Given the description of an element on the screen output the (x, y) to click on. 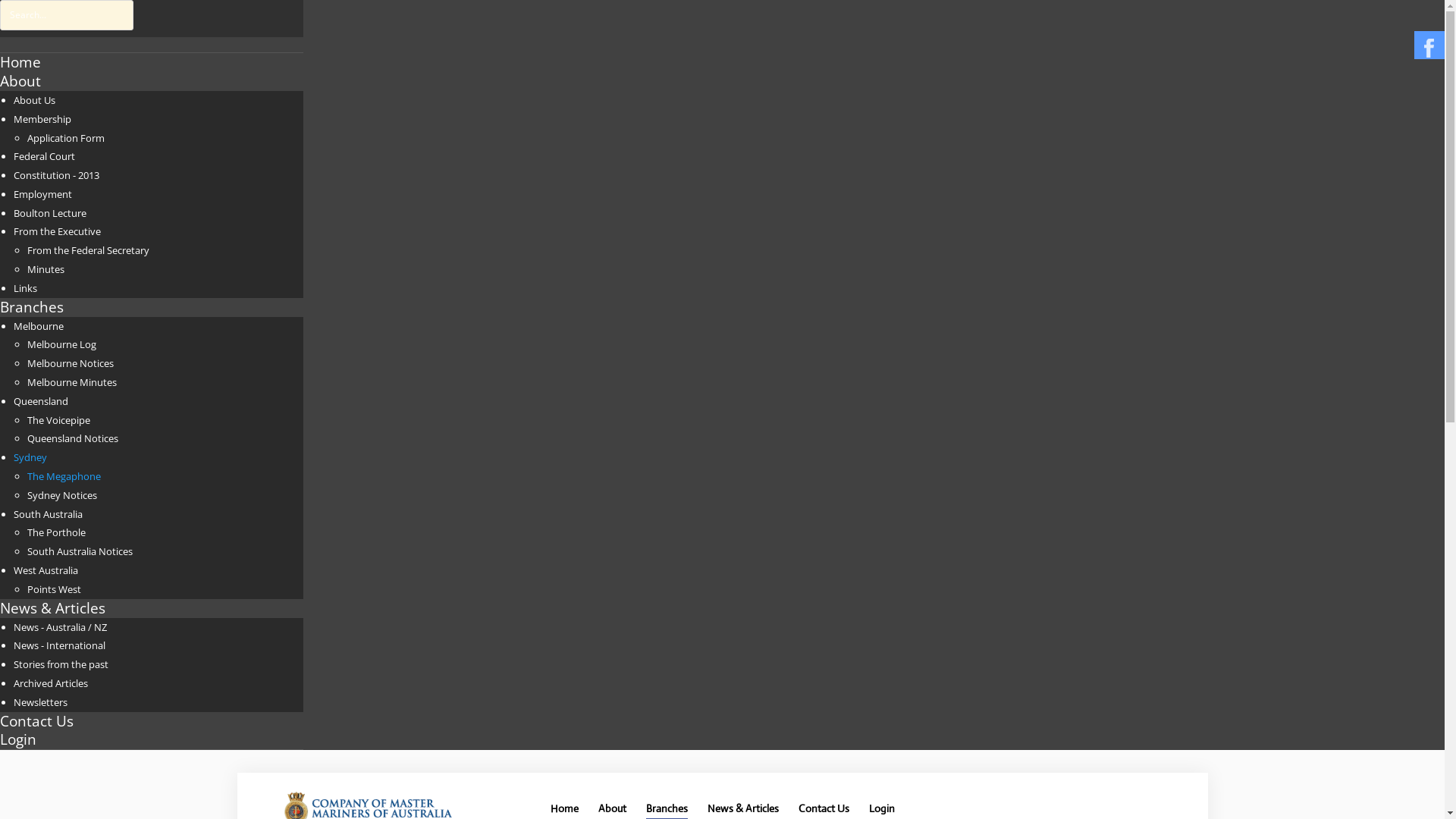
Branches Element type: text (31, 306)
Sydney Element type: text (30, 457)
Application Form Element type: text (65, 137)
Home Element type: text (20, 61)
From the Federal Secretary Element type: text (88, 250)
Melbourne Notices Element type: text (70, 363)
Login Element type: text (881, 808)
Links Element type: text (25, 287)
Stories from the past Element type: text (60, 664)
Constitution - 2013 Element type: text (56, 175)
About Element type: text (151, 81)
Branches Element type: text (151, 307)
Minutes Element type: text (45, 269)
South Australia Element type: text (47, 513)
Sydney Notices Element type: text (62, 495)
Contact Us Element type: text (822, 808)
Melbourne Minutes Element type: text (71, 382)
News - Australia / NZ Element type: text (59, 626)
West Australia Element type: text (45, 570)
Federal Court Element type: text (44, 156)
From the Executive Element type: text (56, 231)
Home Element type: text (564, 808)
Newsletters Element type: text (40, 702)
News & Articles Element type: text (742, 808)
News & Articles Element type: text (151, 608)
News & Articles Element type: text (52, 607)
South Australia Notices Element type: text (79, 551)
Archived Articles Element type: text (50, 683)
About Element type: text (611, 808)
The Voicepipe Element type: text (58, 419)
Contact Us Element type: text (36, 720)
Login Element type: text (881, 808)
About Element type: text (20, 80)
News & Articles Element type: text (742, 808)
Boulton Lecture Element type: text (49, 212)
Queensland Notices Element type: text (72, 438)
Contact Us Element type: text (822, 808)
Melbourne Log Element type: text (61, 344)
About Us Element type: text (34, 99)
Employment Element type: text (42, 193)
Home Element type: text (564, 808)
The Porthole Element type: text (56, 532)
News - International Element type: text (59, 645)
Queensland Element type: text (40, 400)
The Megaphone Element type: text (63, 476)
Melbourne Element type: text (38, 325)
Membership Element type: text (42, 118)
Branches Element type: text (666, 808)
Points West Element type: text (54, 589)
About Element type: text (611, 808)
Login Element type: text (18, 738)
